Given the description of an element on the screen output the (x, y) to click on. 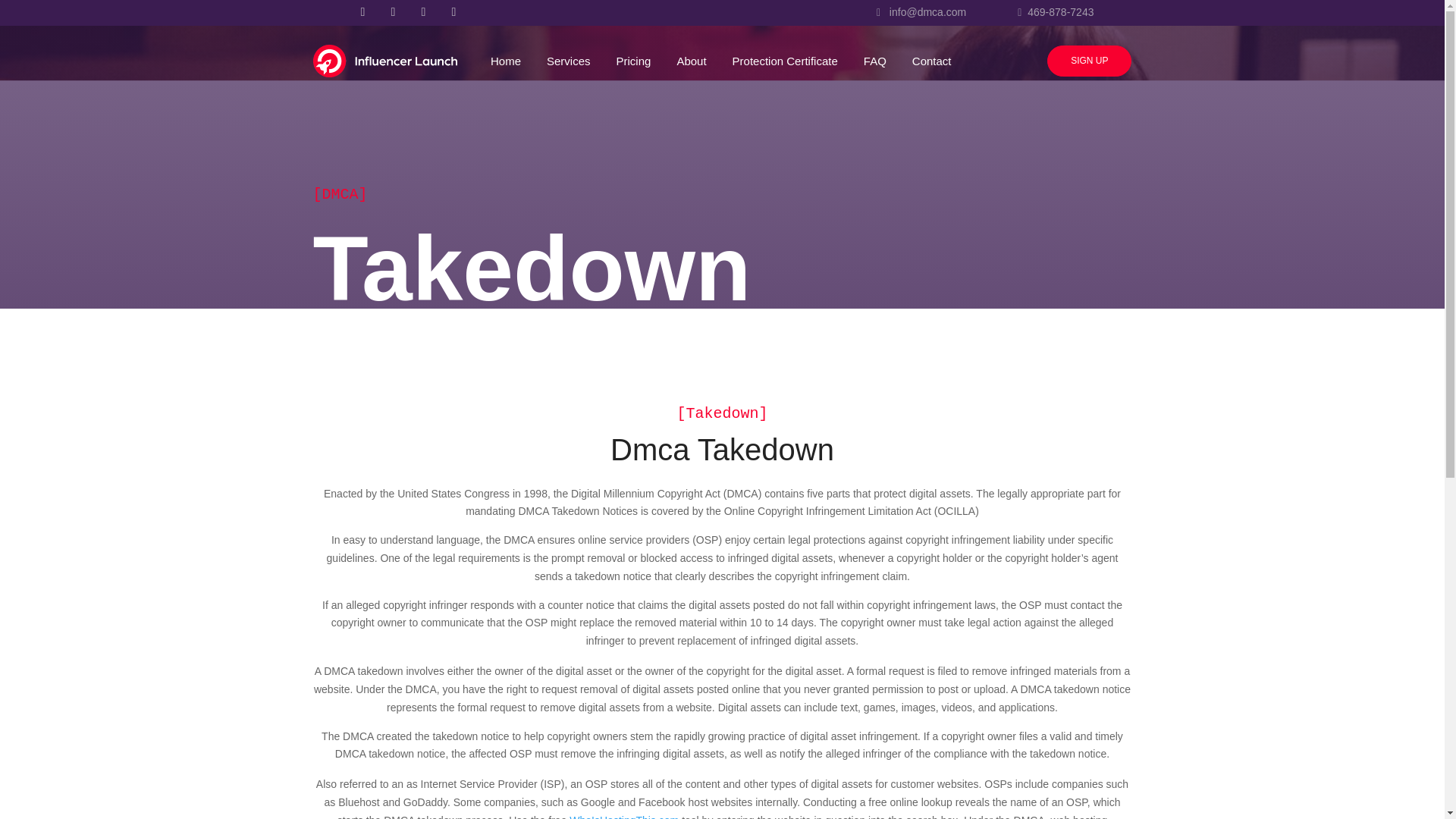
About (686, 64)
Follow on LinkedIn (453, 12)
Pricing (628, 64)
Contact (927, 64)
FAQ (870, 64)
Services (564, 64)
WhoIsHostingThis.com (623, 816)
Follow on Facebook (362, 12)
SIGN UP (1088, 60)
Follow on Instagram (422, 12)
